Given the description of an element on the screen output the (x, y) to click on. 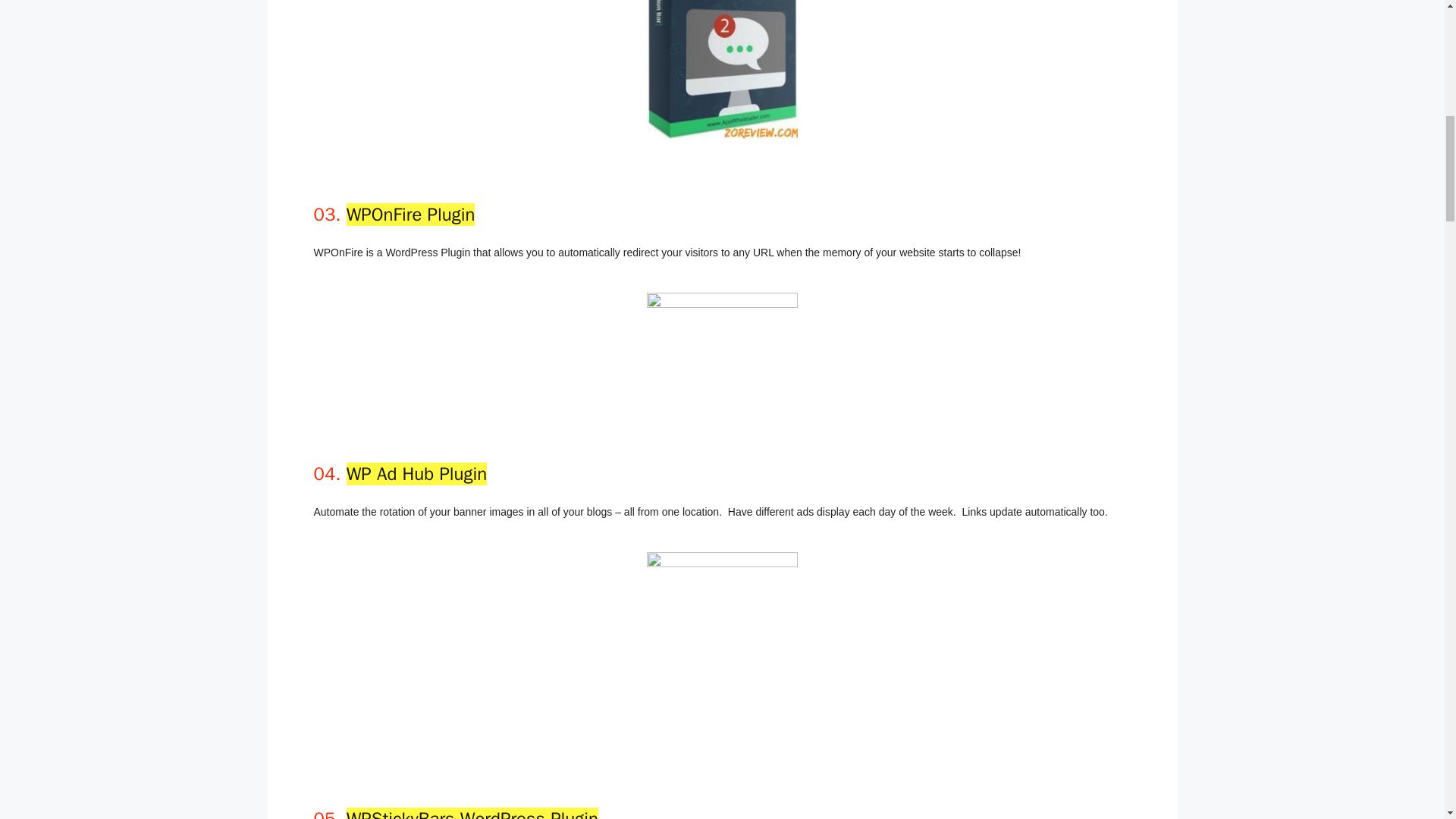
Jetzoreview.com (721, 345)
zoreview.WP Notification Bar WordPress Plugin (721, 69)
